Given the description of an element on the screen output the (x, y) to click on. 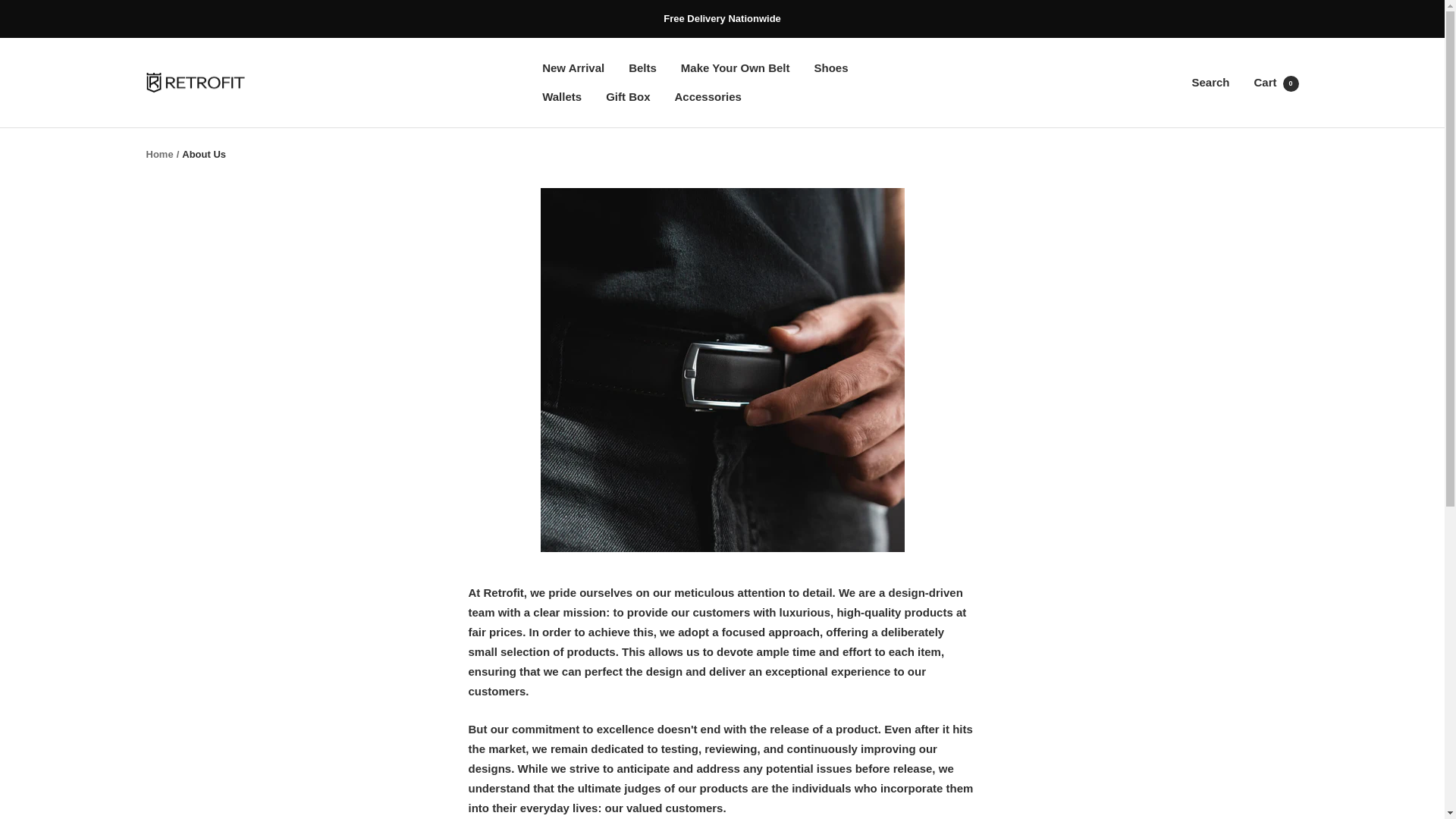
Home (1275, 82)
Make Your Own Belt (159, 153)
Search (735, 67)
Gift Box (1209, 82)
Wallets (627, 96)
Accessories (560, 96)
Retrofit (707, 96)
New Arrival (194, 83)
Belts (572, 67)
Shoes (642, 67)
